Given the description of an element on the screen output the (x, y) to click on. 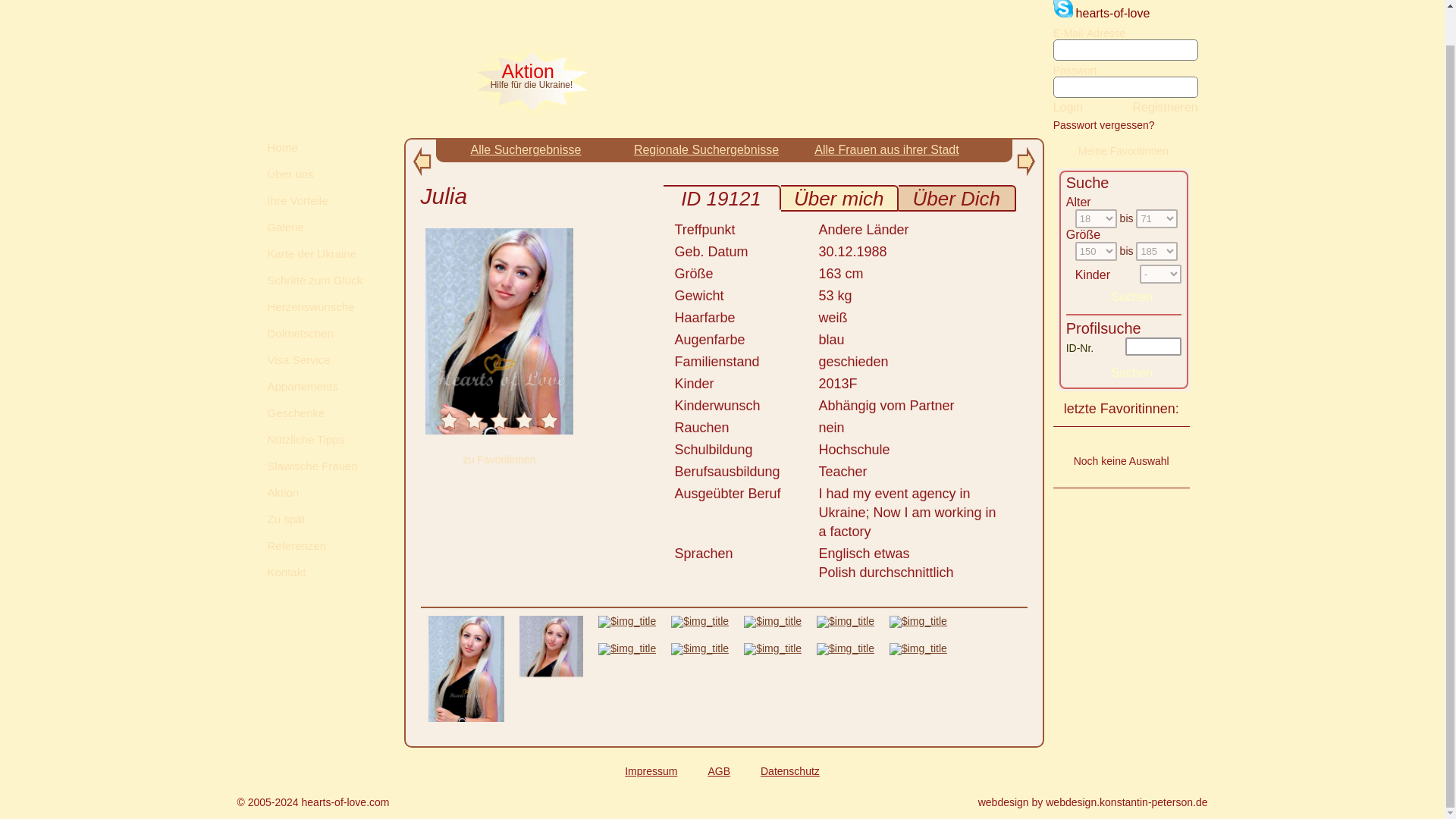
Registrieren (1164, 107)
Suchen (1131, 372)
Karte der Ukraine (321, 253)
hearts-of-love (1112, 12)
Suchen (1131, 296)
ID 19121 (721, 198)
Slawische Frauen (321, 465)
Alle Frauen aus ihrer Stadt (885, 149)
Regionale Suchergebnisse (705, 149)
Login (1067, 107)
